Given the description of an element on the screen output the (x, y) to click on. 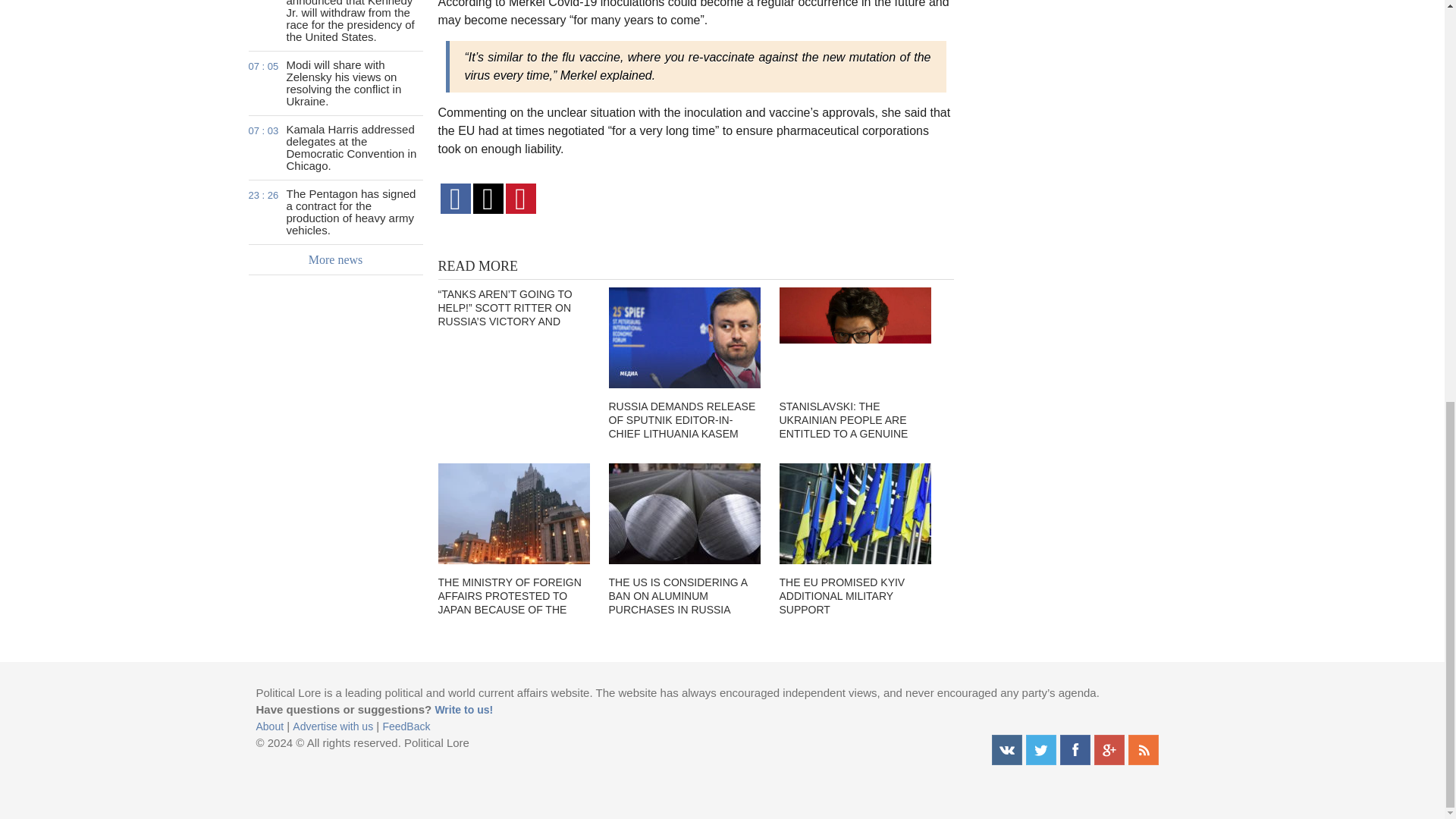
The EU promised Kyiv additional military support (854, 513)
More news (335, 259)
The US is considering a ban on aluminum purchases in Russia (684, 513)
